Given the description of an element on the screen output the (x, y) to click on. 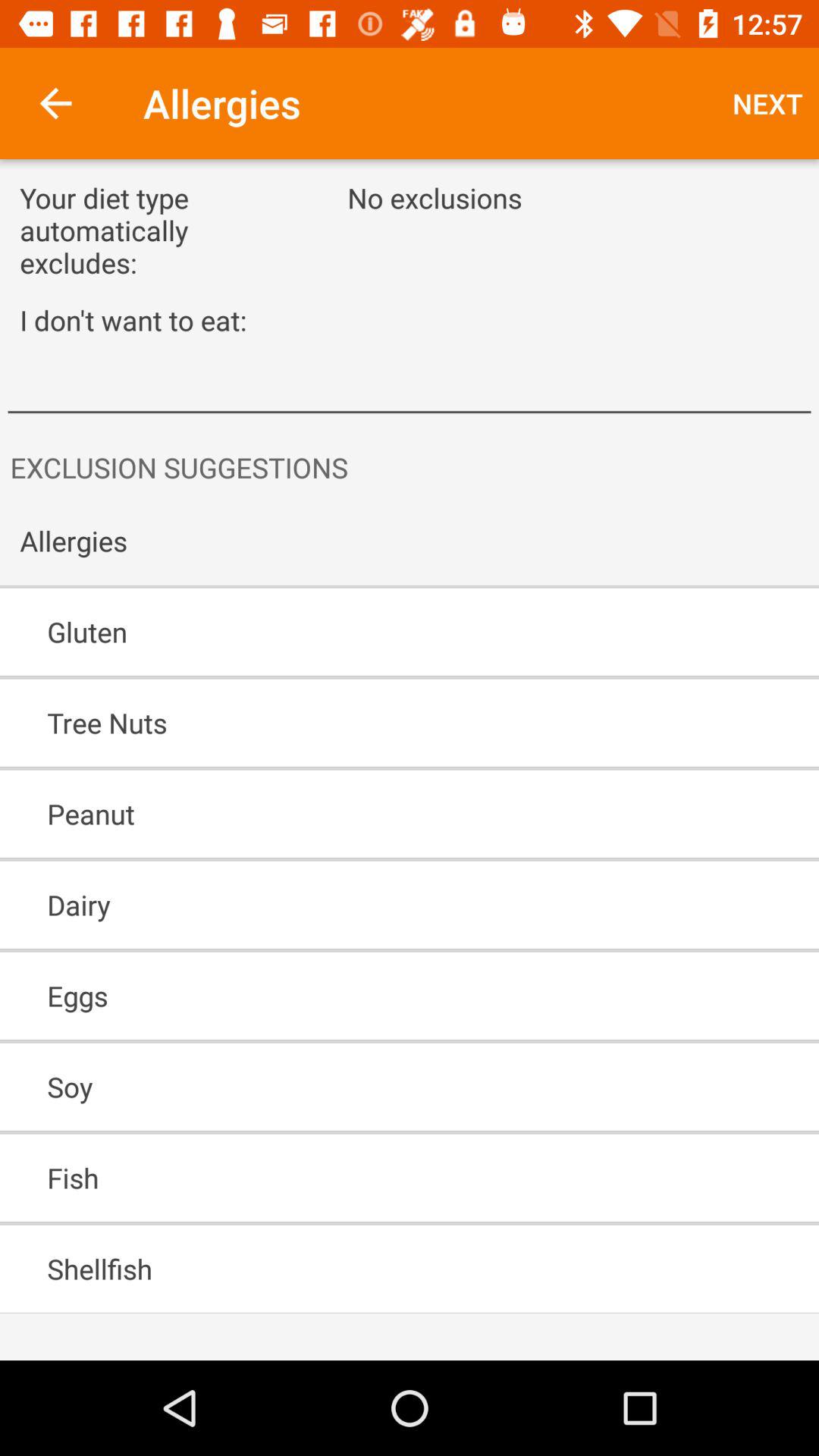
press gluten icon (365, 631)
